Given the description of an element on the screen output the (x, y) to click on. 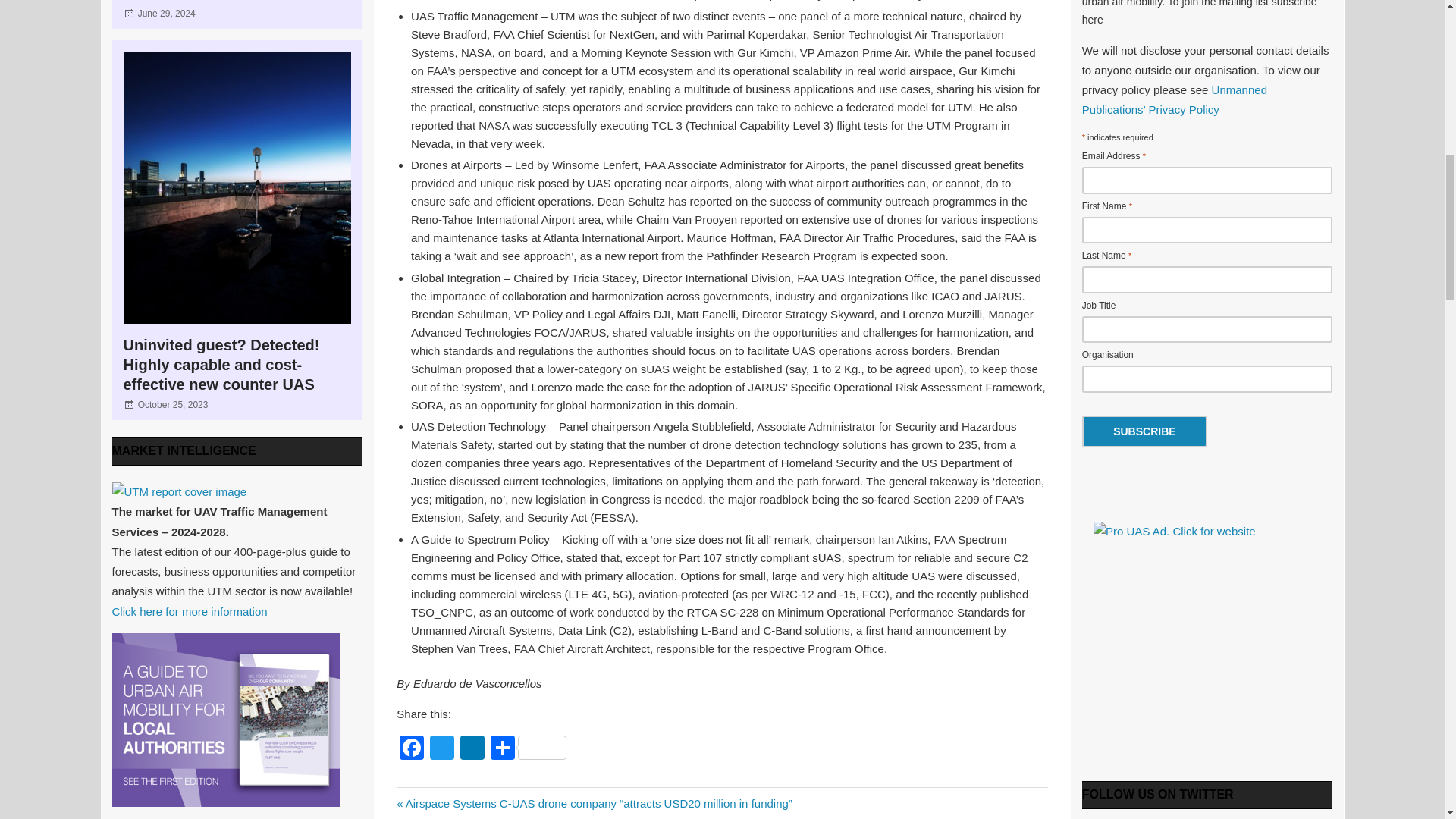
Facebook (411, 749)
October 25, 2023 (173, 404)
Twitter (441, 749)
Share (528, 749)
11:31 am (166, 13)
LinkedIn (472, 749)
Click here for more information (189, 611)
June 29, 2024 (166, 13)
Facebook (411, 749)
Twitter (441, 749)
9:33 am (173, 404)
Subscribe (1144, 431)
